Given the description of an element on the screen output the (x, y) to click on. 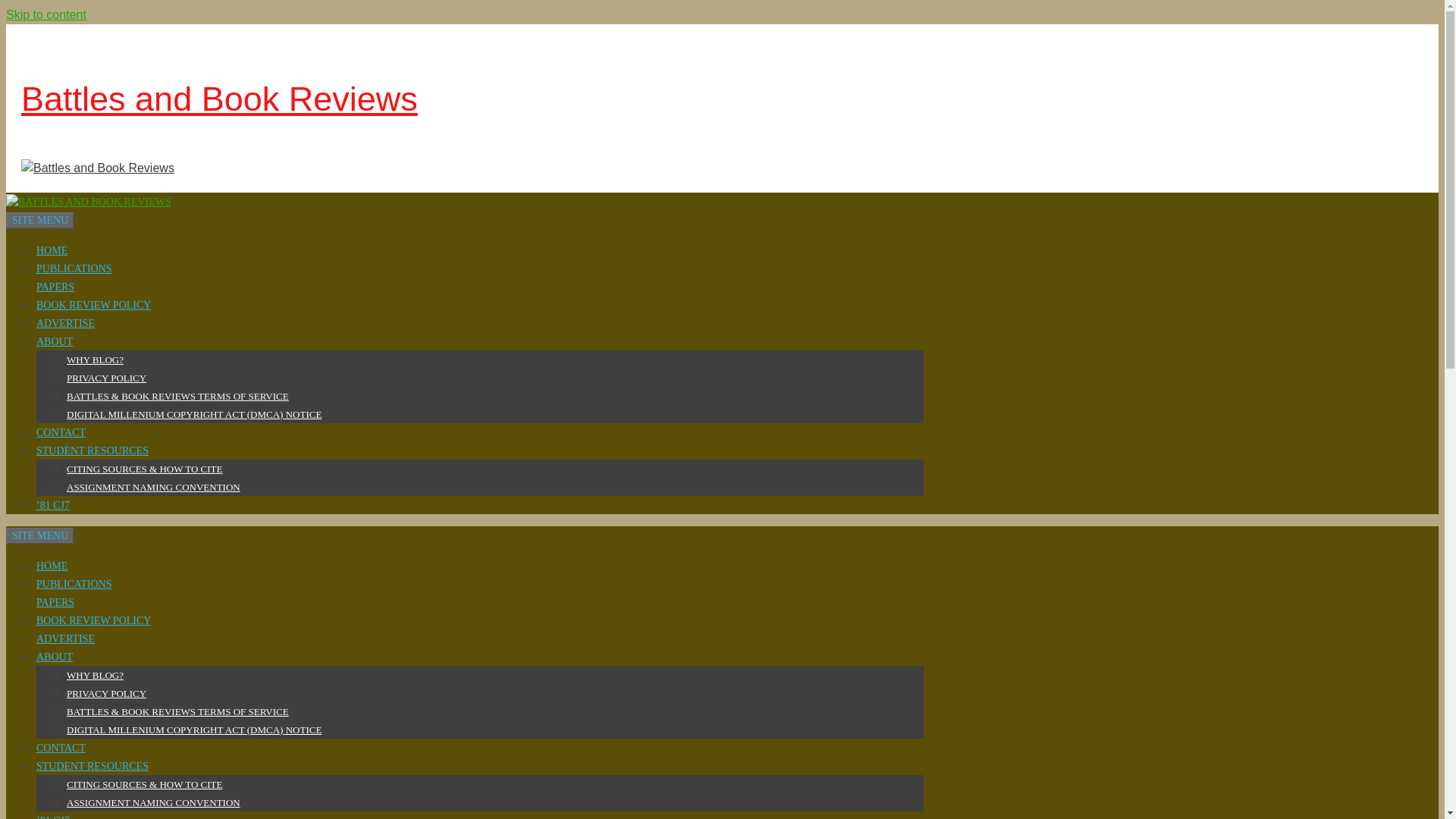
PRIVACY POLICY (106, 377)
WHY BLOG? (94, 358)
Publications (74, 583)
STUDENT RESOURCES (92, 449)
Papers (55, 285)
PAPERS (55, 285)
CONTACT (60, 431)
ABOUT (54, 655)
STUDENT RESOURCES (92, 765)
ASSIGNMENT NAMING CONVENTION (153, 486)
Skip to content (45, 14)
PRIVACY POLICY (106, 692)
BOOK REVIEW POLICY (93, 304)
Papers (55, 601)
CONTACT (60, 747)
